Given the description of an element on the screen output the (x, y) to click on. 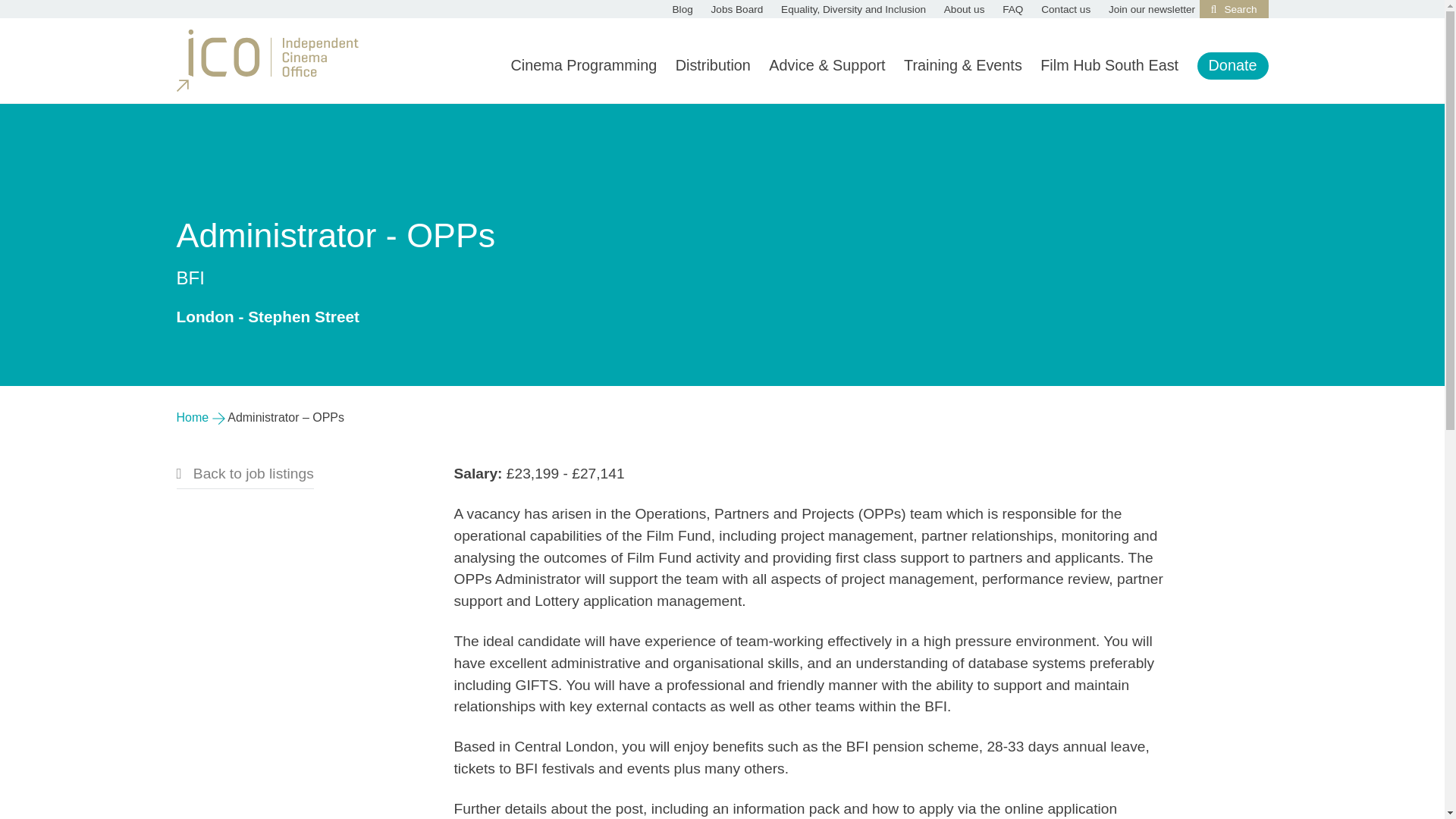
Cinema Programming (583, 64)
Contact us (1065, 9)
Donate (1232, 64)
Jobs Board (736, 9)
About us (964, 9)
Equality, Diversity and Inclusion (853, 9)
Film Hub South East (1109, 64)
Blog (682, 9)
Distribution (713, 64)
Join our newsletter (1151, 9)
